Given the description of an element on the screen output the (x, y) to click on. 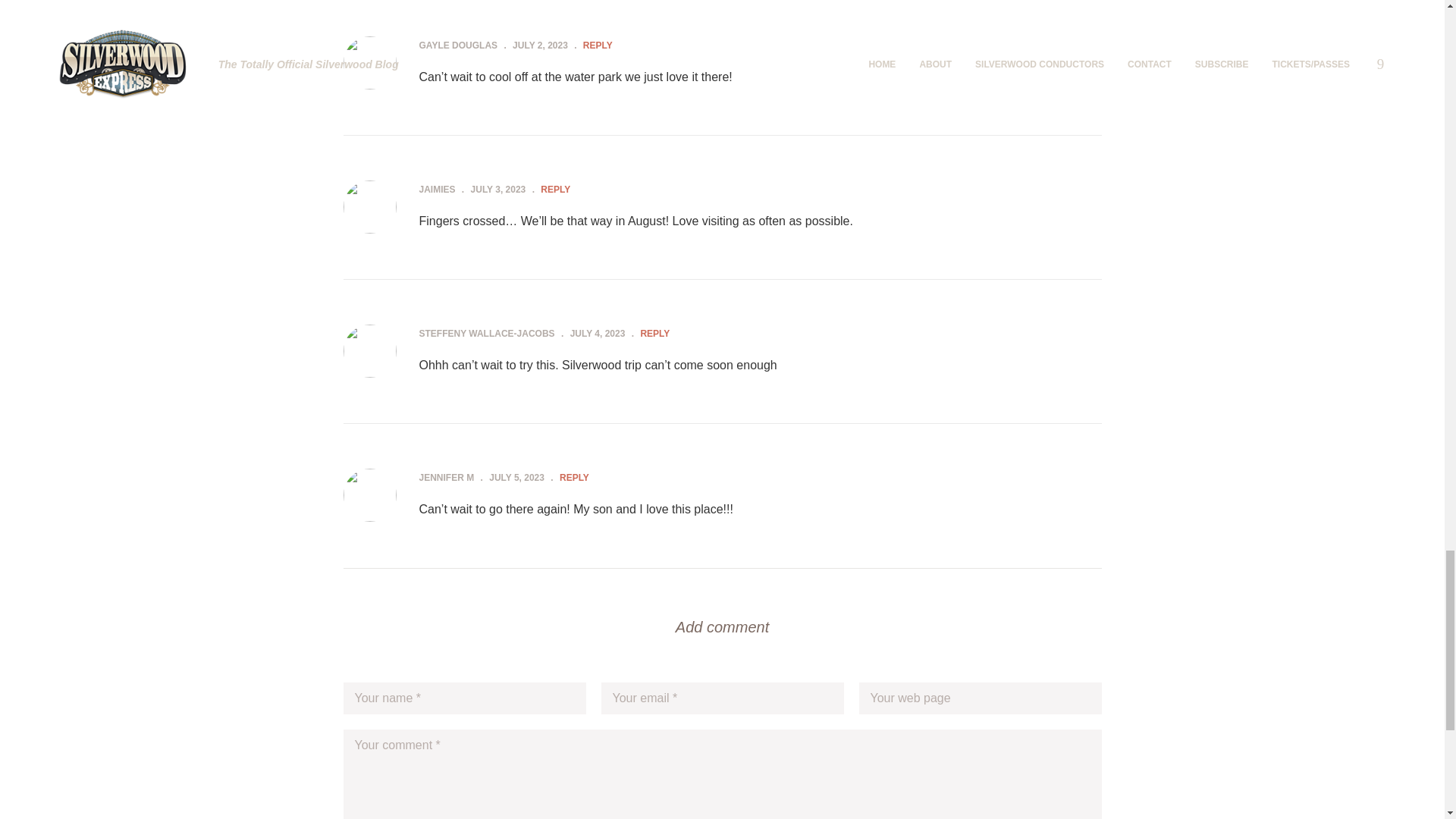
REPLY (574, 477)
REPLY (654, 333)
REPLY (555, 189)
REPLY (597, 45)
